Given the description of an element on the screen output the (x, y) to click on. 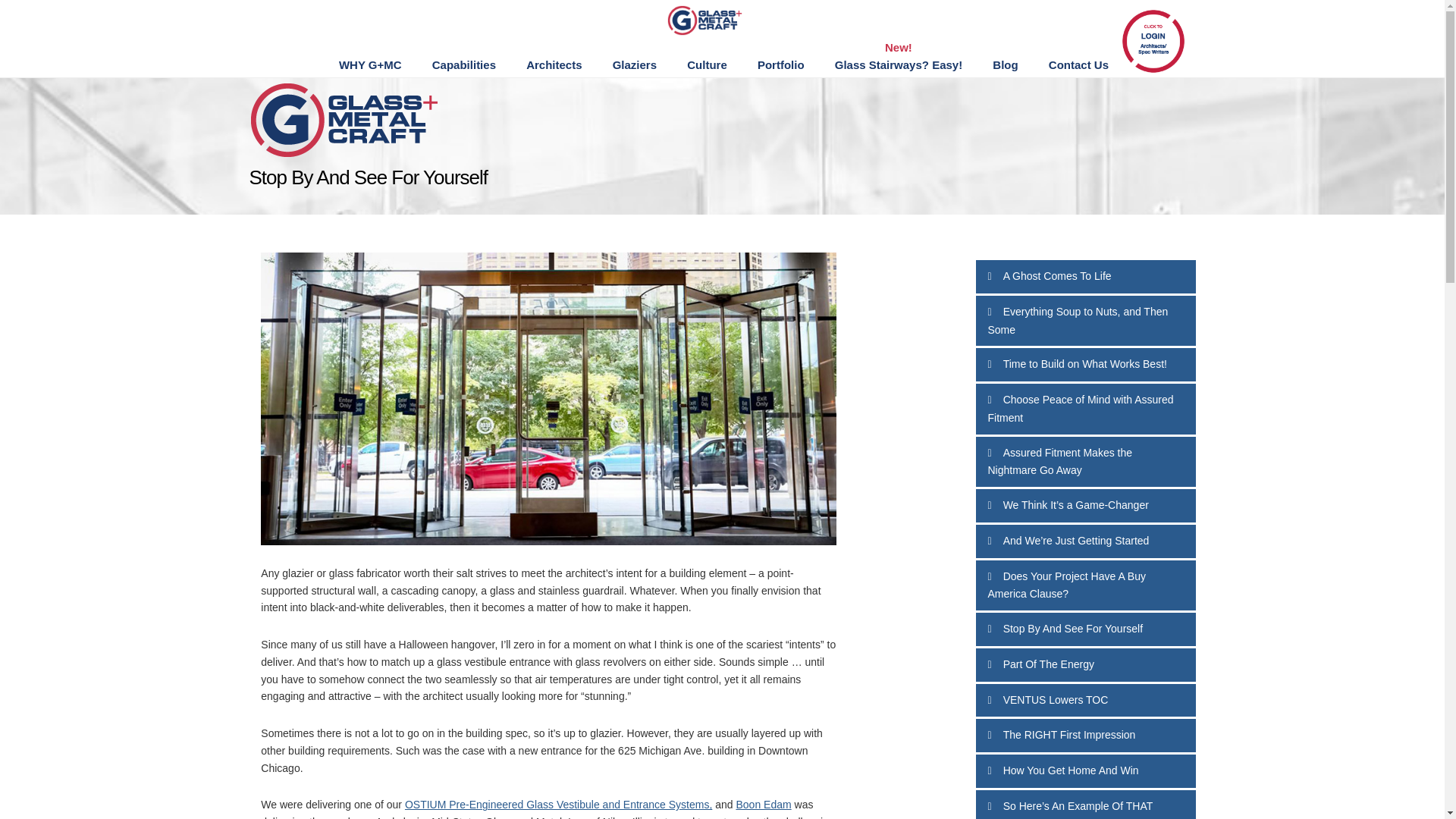
Architects (553, 65)
GLASS AND METAL CRAFT (719, 20)
Capabilities (463, 65)
Glaziers (633, 65)
Portfolio (780, 65)
Culture (706, 65)
